Given the description of an element on the screen output the (x, y) to click on. 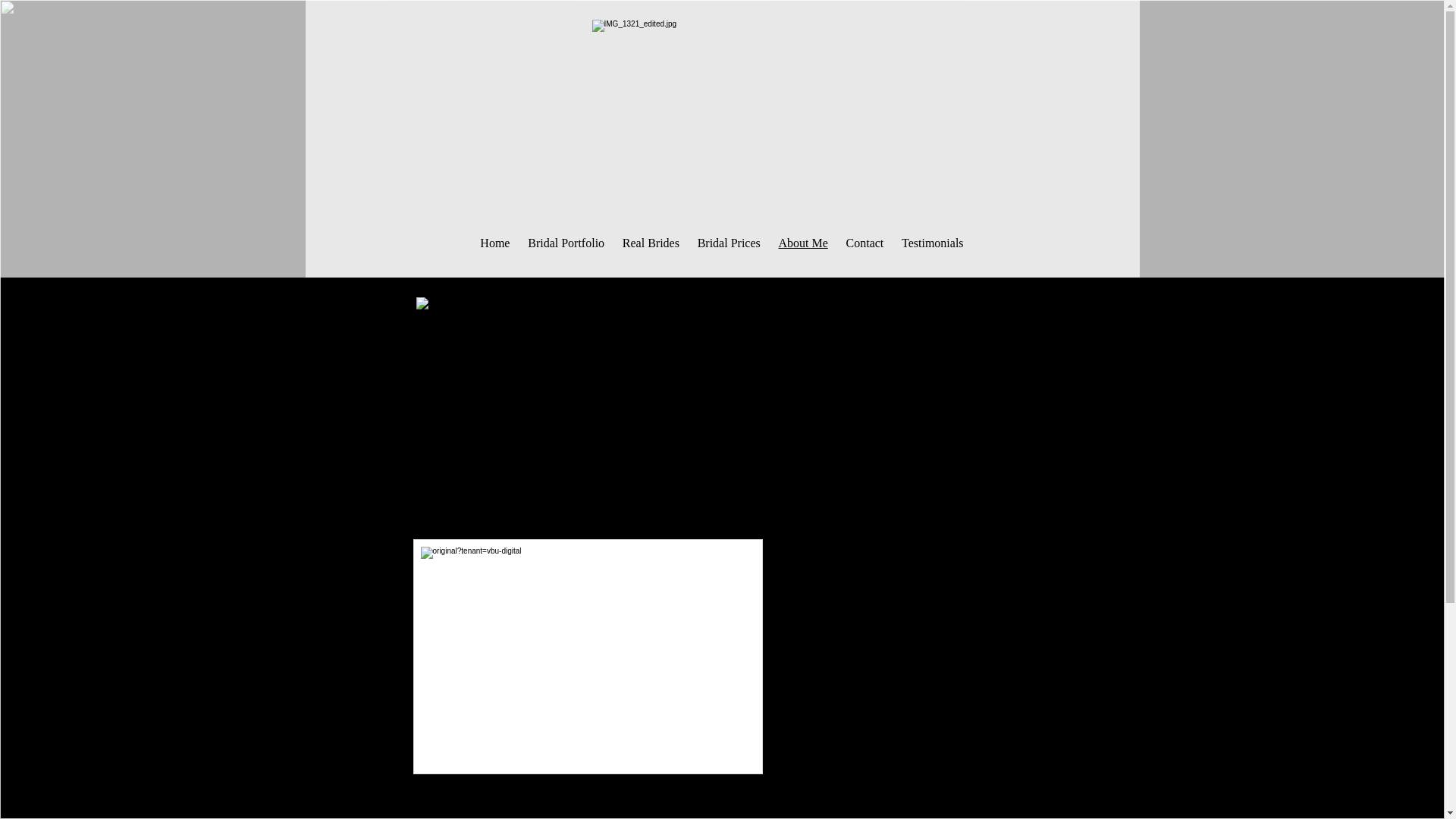
Bridal Prices (729, 243)
Bridal Portfolio (565, 243)
Home (495, 243)
Real Brides (650, 243)
Testimonials (932, 243)
Contact (865, 243)
About Me (803, 243)
